Given the description of an element on the screen output the (x, y) to click on. 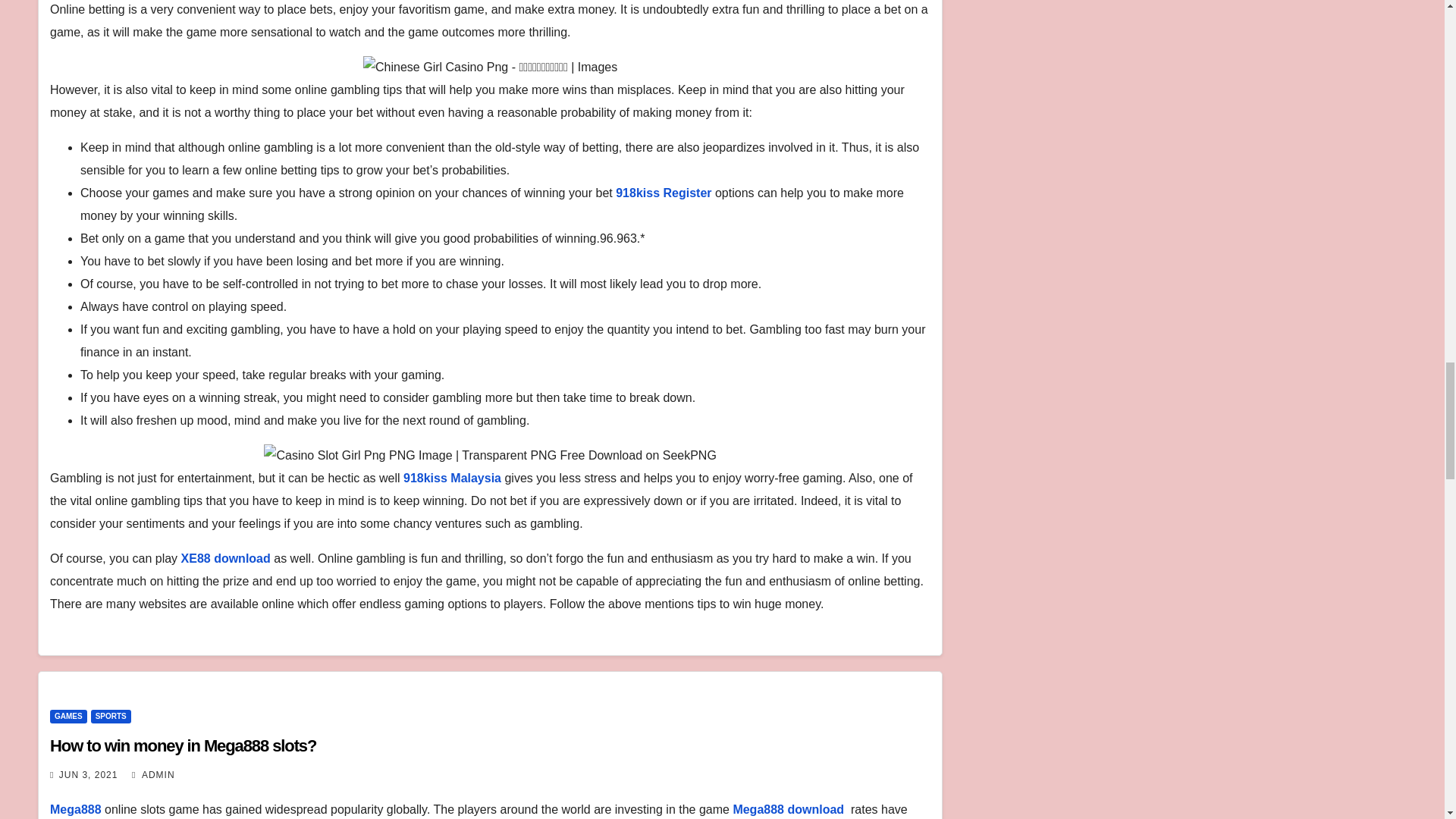
GAMES (68, 716)
XE88 download (225, 558)
918kiss Malaysia (453, 477)
918kiss Register (663, 192)
